Given the description of an element on the screen output the (x, y) to click on. 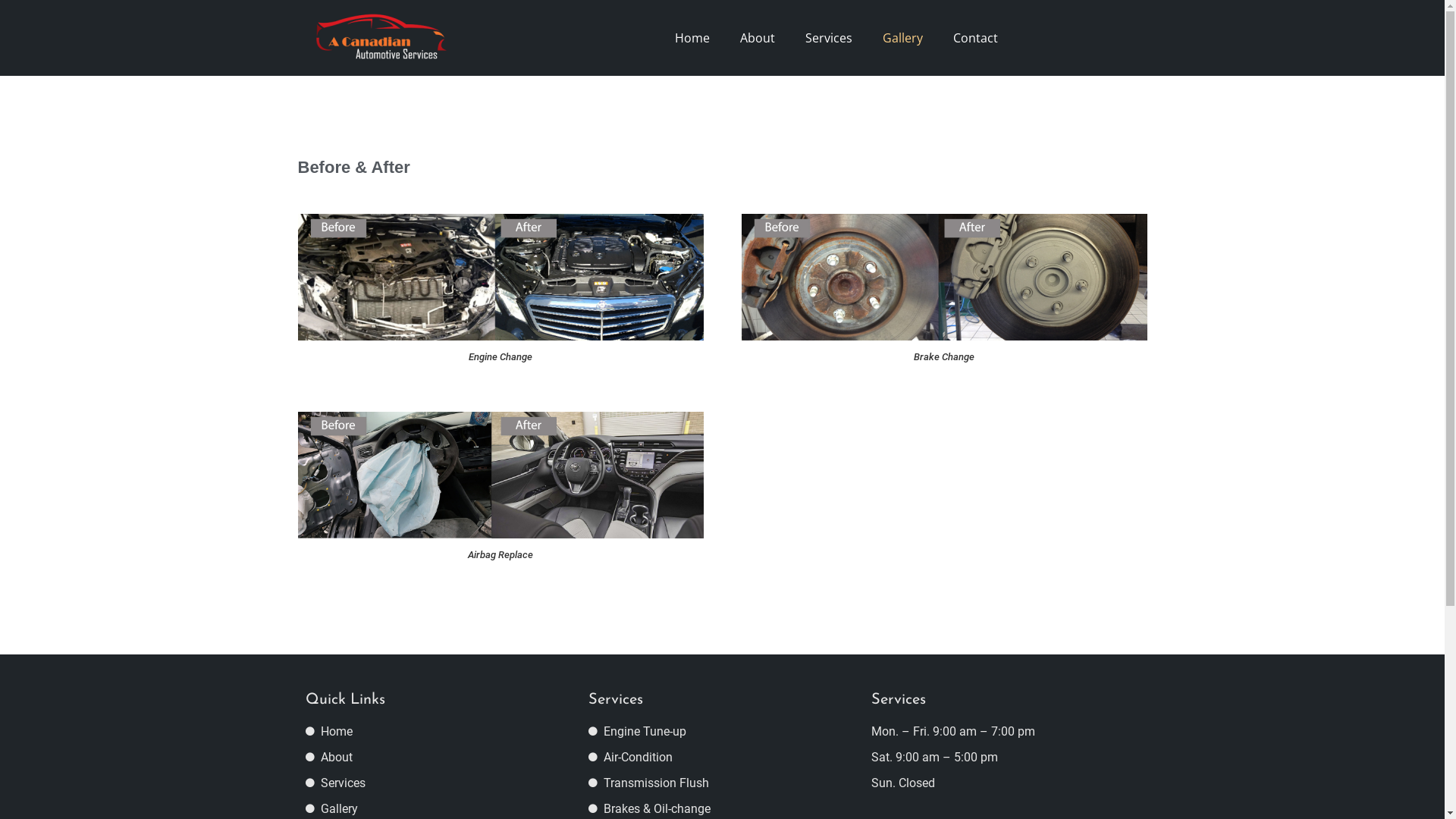
Gallery Element type: text (902, 37)
Home Element type: text (691, 37)
Contact Element type: text (974, 37)
Services Element type: text (828, 37)
About Element type: text (757, 37)
Services Element type: text (438, 783)
Gallery Element type: text (438, 809)
About Element type: text (438, 757)
Home Element type: text (438, 731)
